Given the description of an element on the screen output the (x, y) to click on. 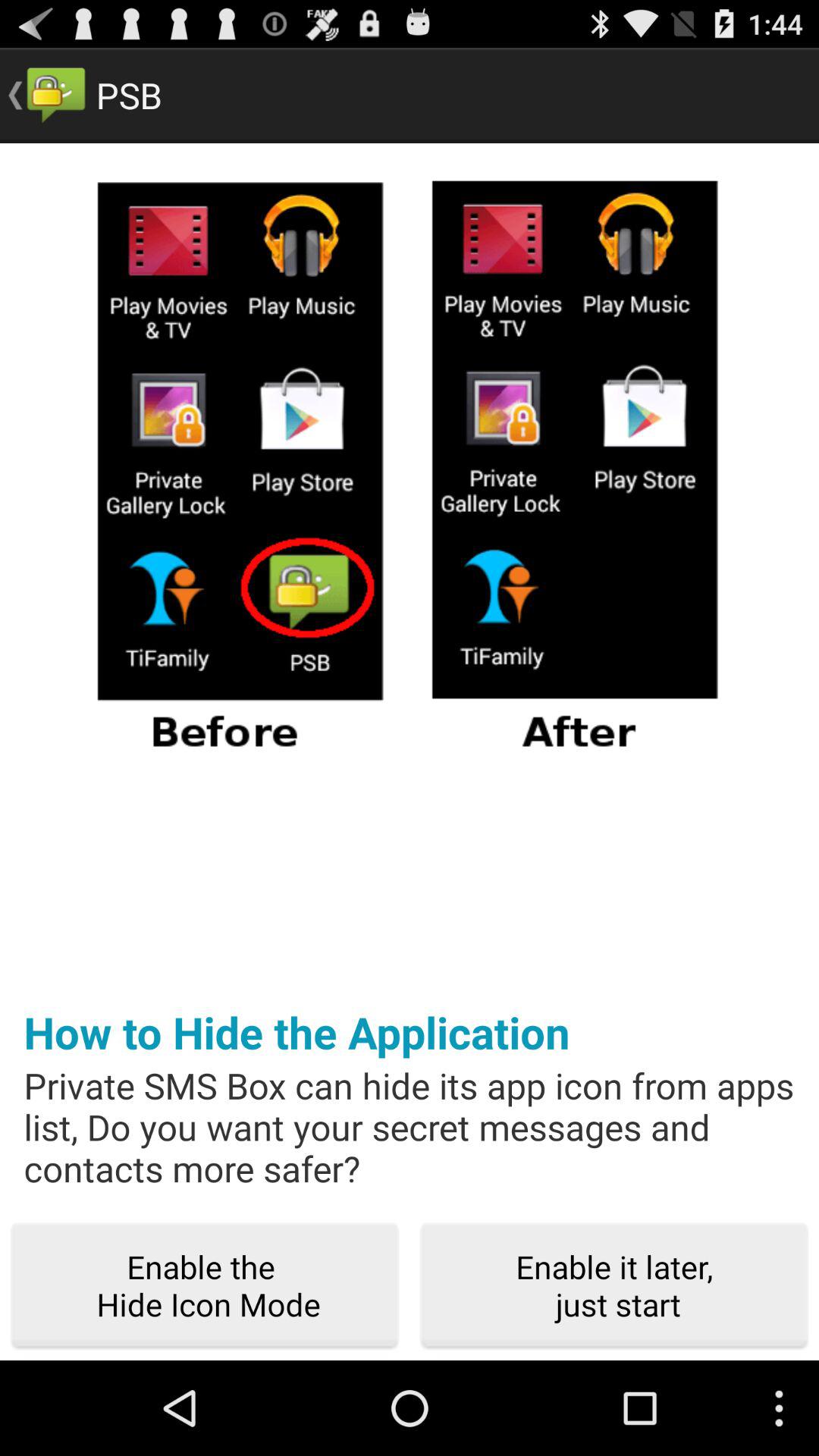
choose the enable it later item (613, 1286)
